Given the description of an element on the screen output the (x, y) to click on. 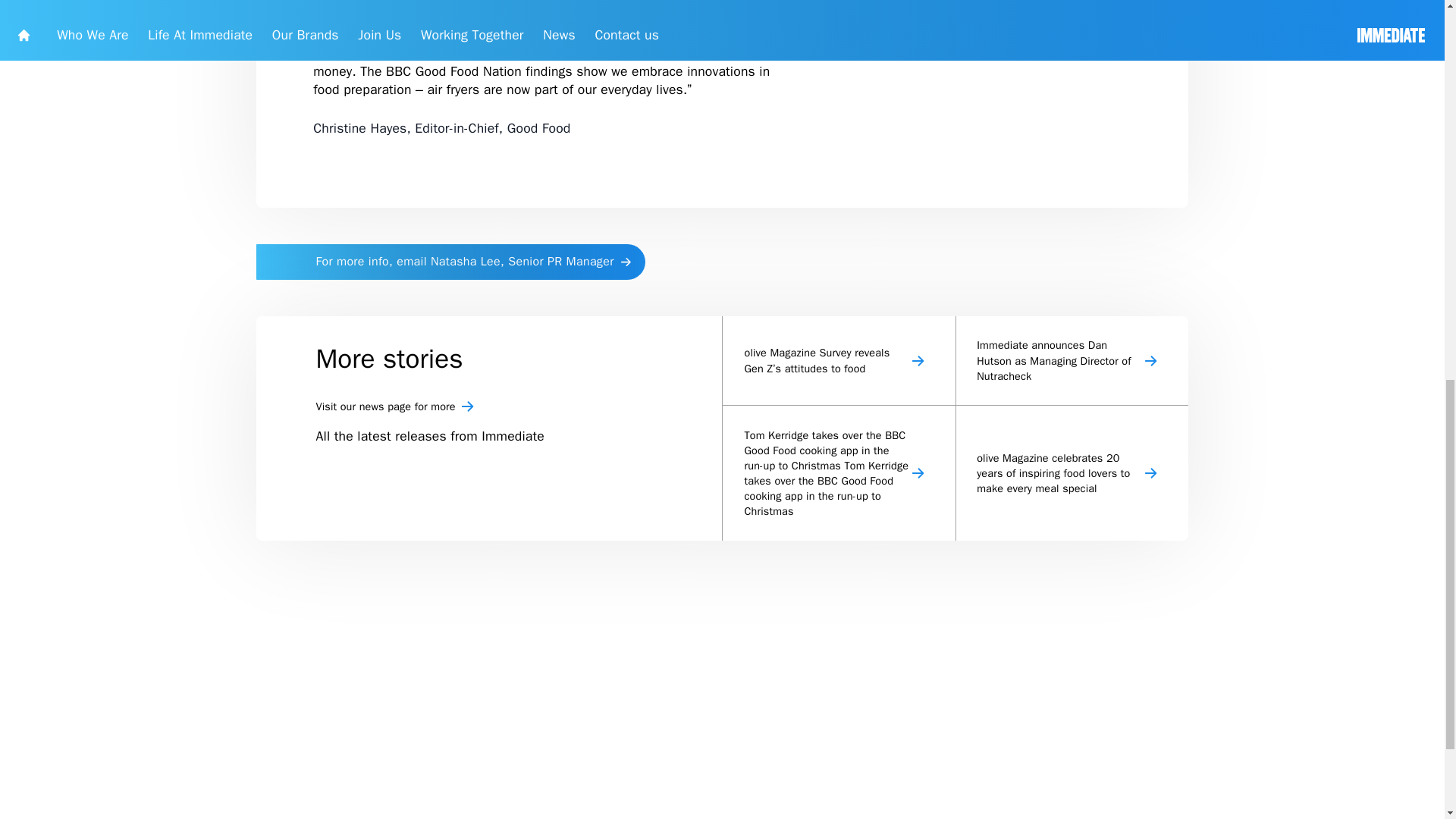
Visit our news page for more (625, 711)
Christine Hayes (1170, 282)
For more info, email Natasha Lee, Senior PR Manager (563, 532)
